Given the description of an element on the screen output the (x, y) to click on. 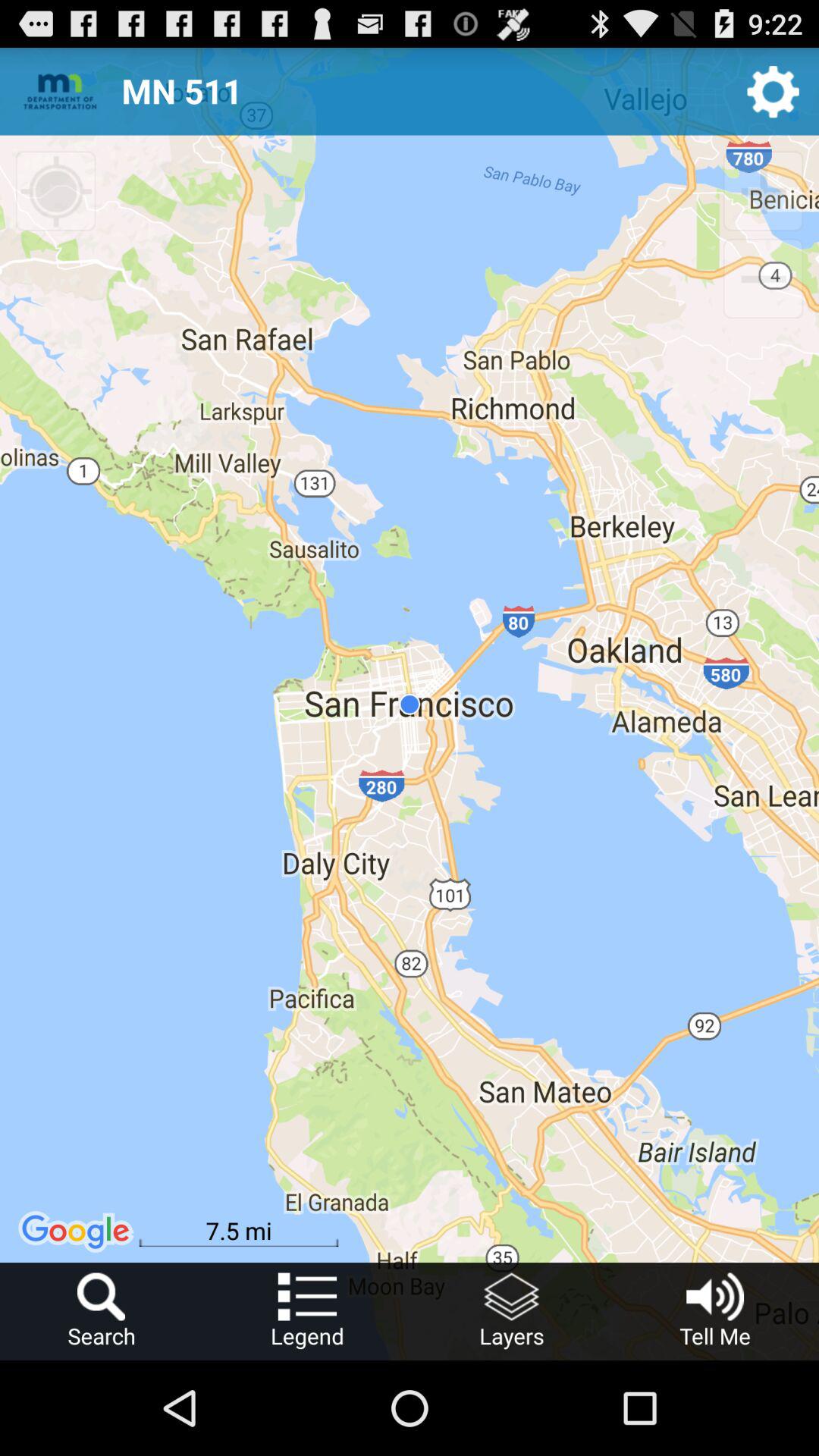
settings icon (773, 91)
